Given the description of an element on the screen output the (x, y) to click on. 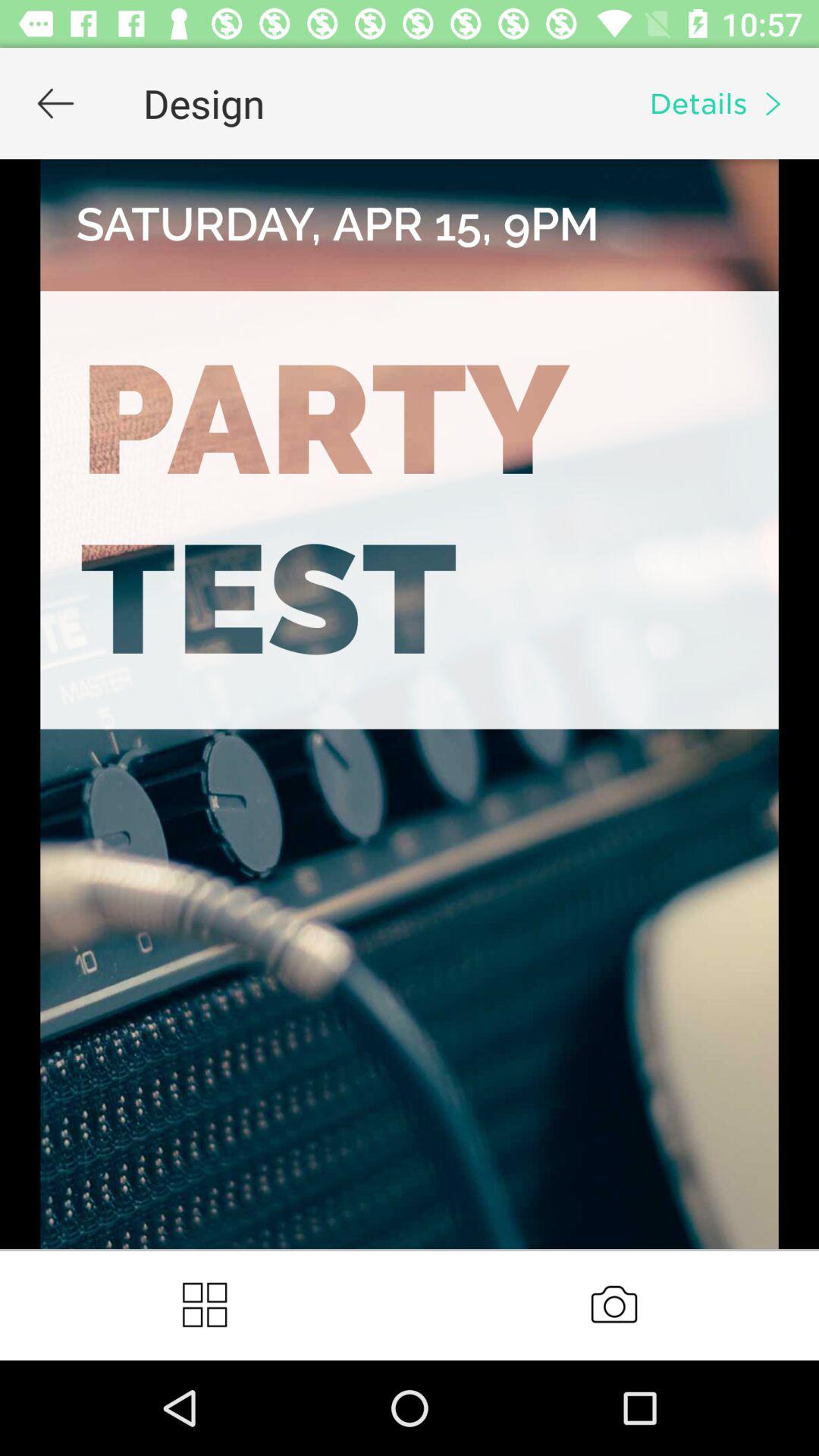
click on text below time (722, 103)
